Given the description of an element on the screen output the (x, y) to click on. 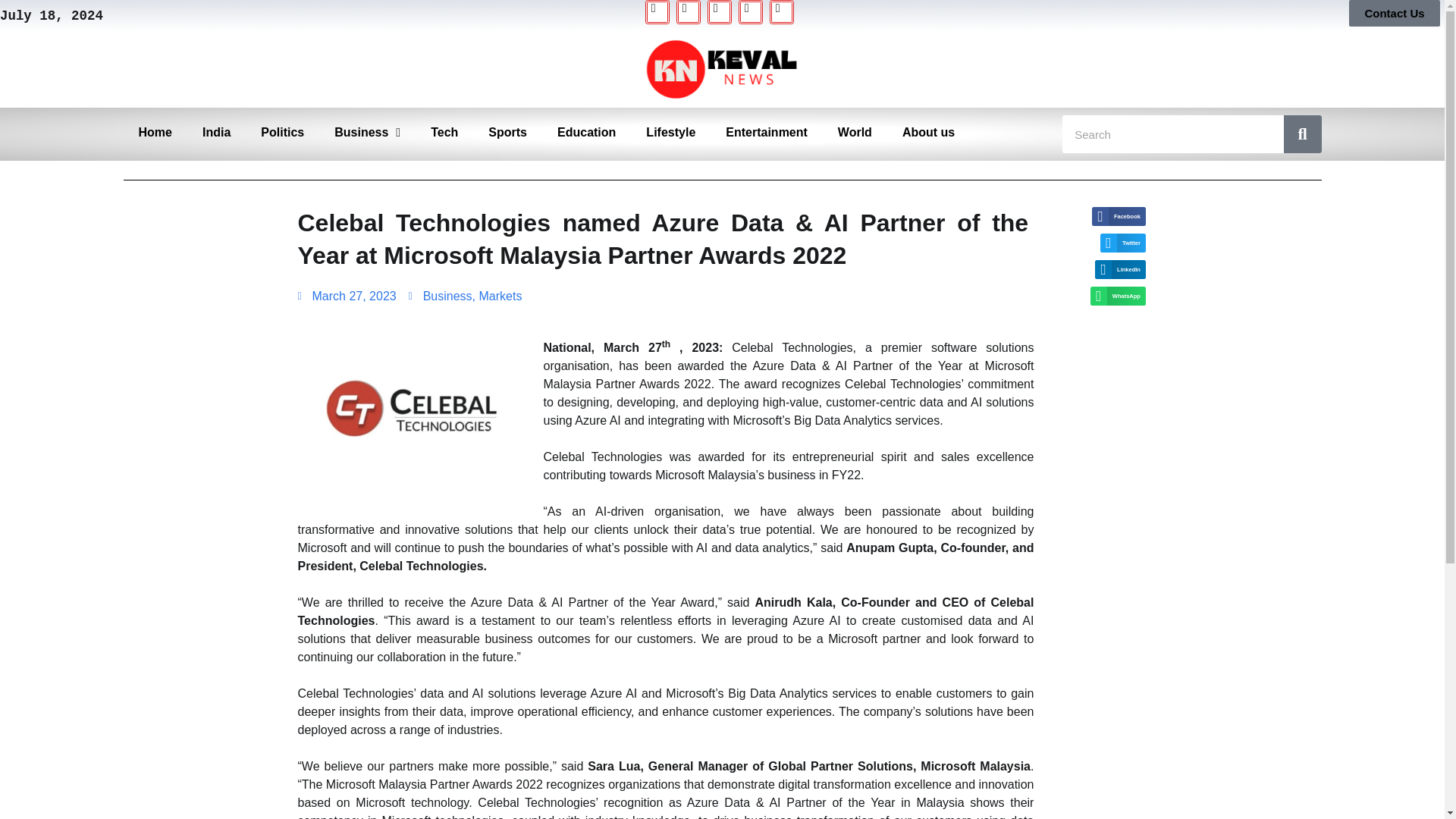
Entertainment (766, 132)
Sports (507, 132)
March 27, 2023 (346, 296)
Business (366, 132)
Education (585, 132)
Contact Us (1394, 13)
Search (1173, 134)
Home (154, 132)
World (854, 132)
About us (927, 132)
Lifestyle (670, 132)
Business (447, 295)
India (216, 132)
Search (1301, 134)
Tech (443, 132)
